Given the description of an element on the screen output the (x, y) to click on. 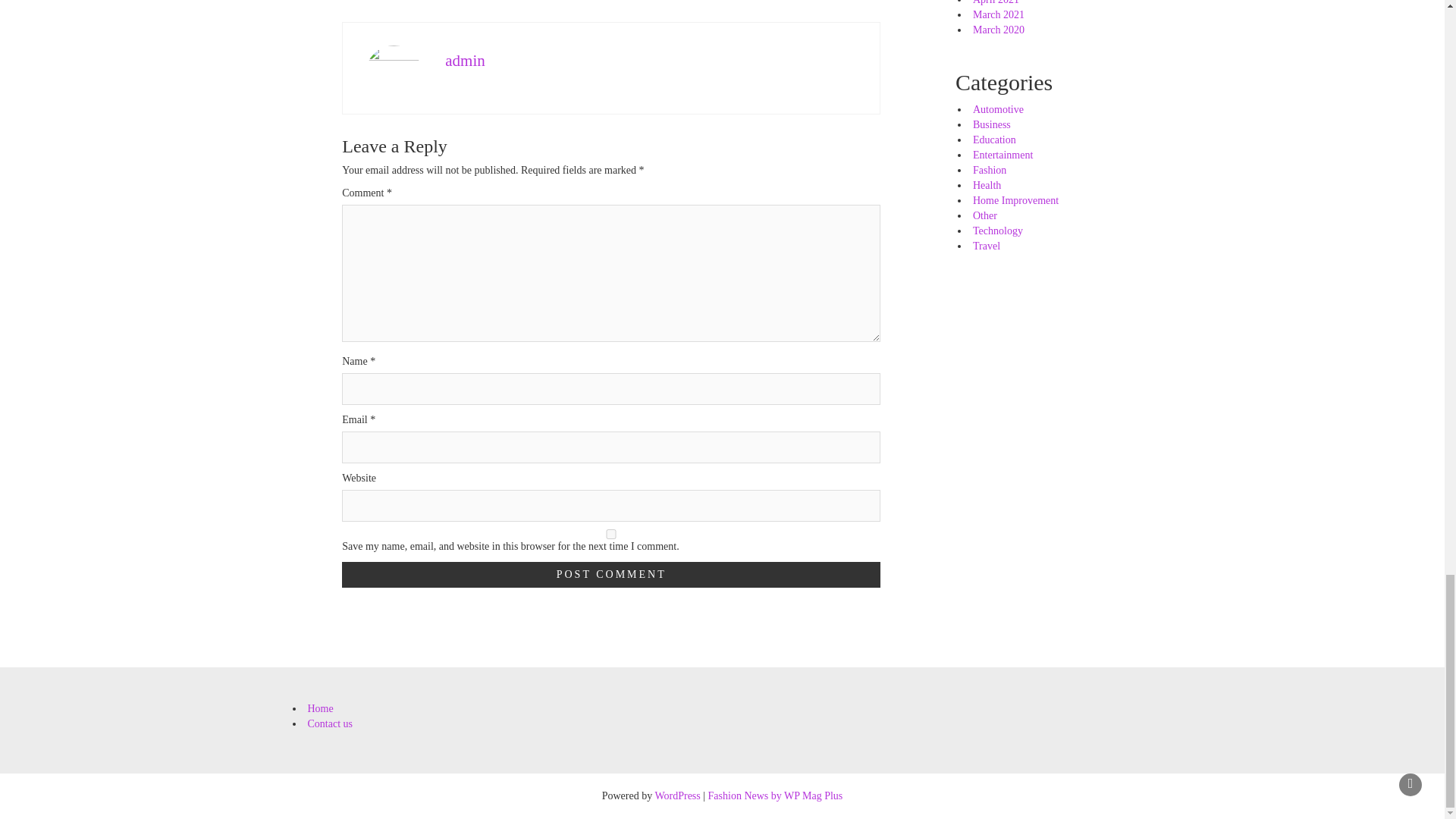
Post Comment (611, 574)
Post Comment (611, 574)
yes (611, 533)
admin (464, 60)
